Given the description of an element on the screen output the (x, y) to click on. 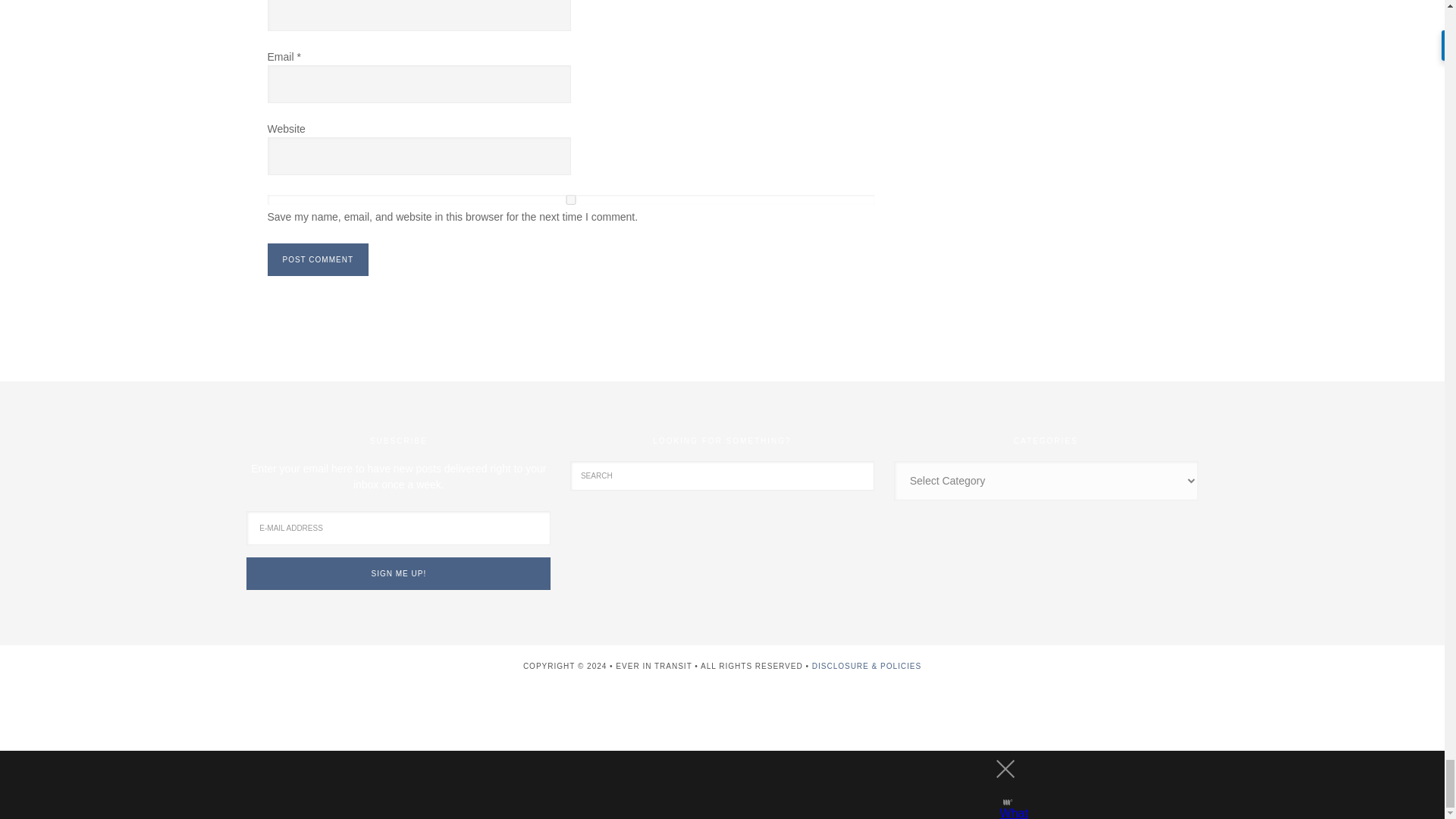
SIGN ME UP! (398, 573)
yes (569, 199)
Post Comment (317, 259)
